Given the description of an element on the screen output the (x, y) to click on. 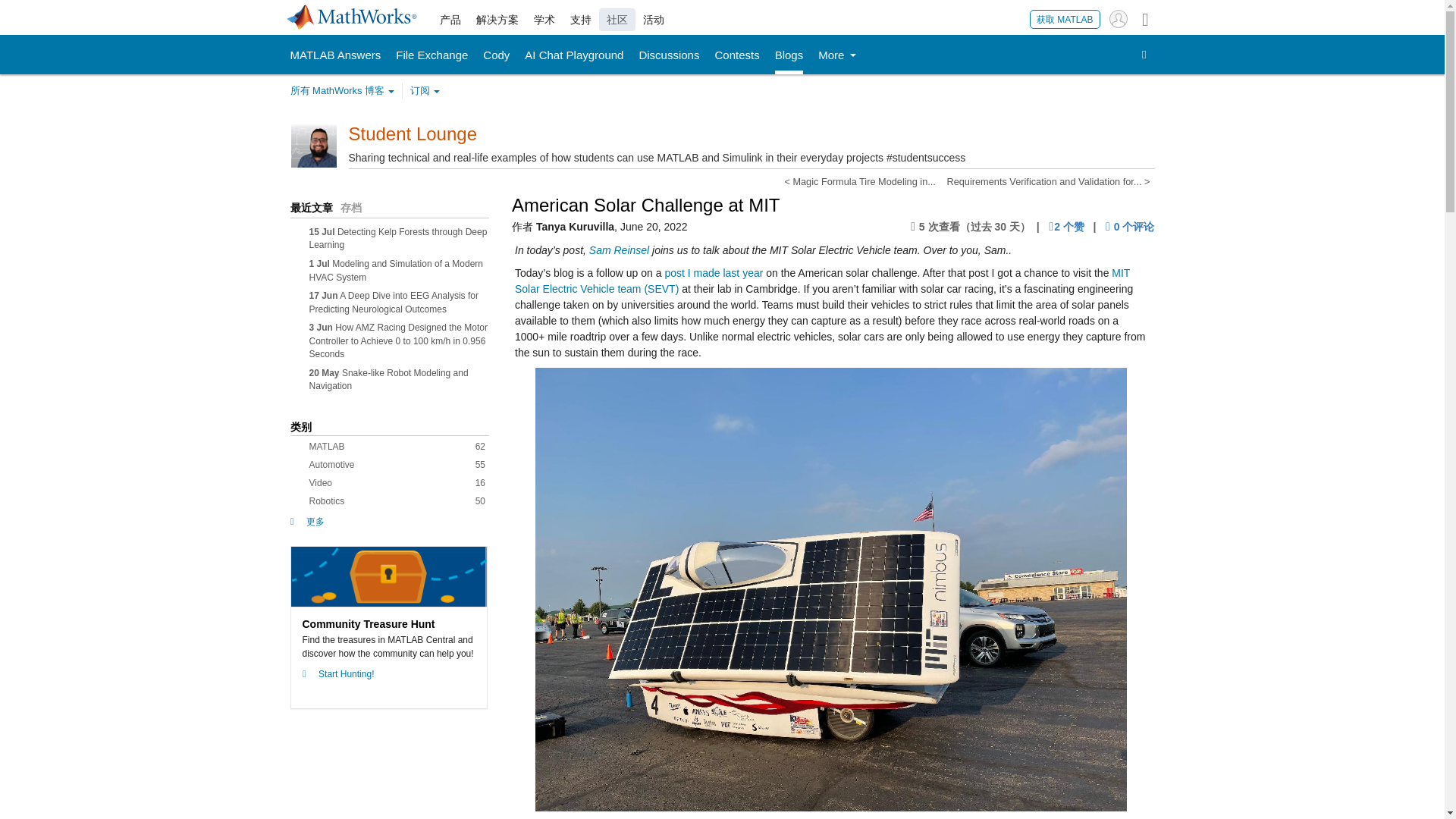
Look Modeling and Simulation of a Modern HVAC System (395, 270)
Matrix Menu (1144, 18)
Student Lounge (413, 133)
Look Detecting Kelp Forests through Deep Learning (397, 238)
